Given the description of an element on the screen output the (x, y) to click on. 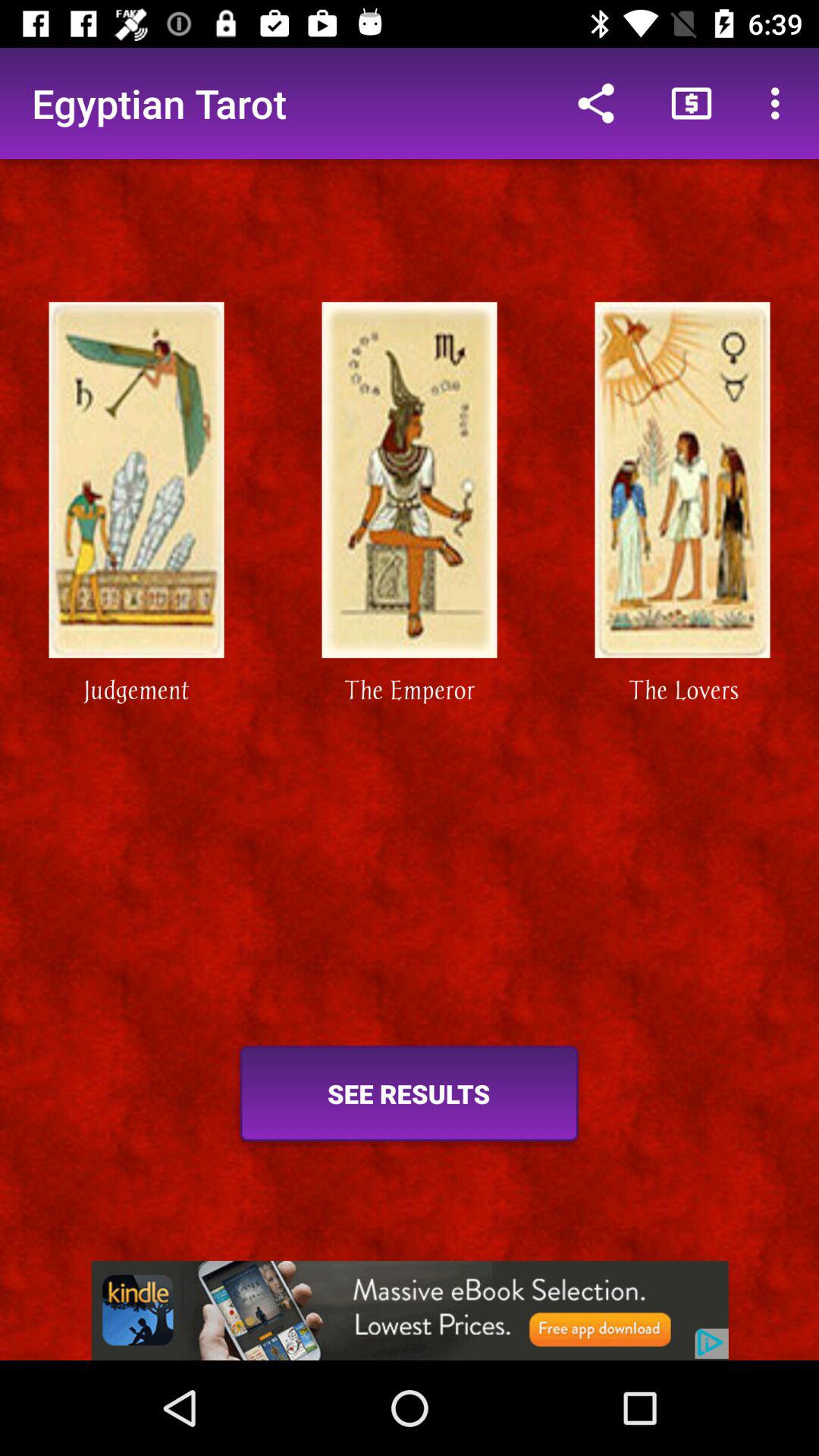
advertisement link (409, 1310)
